Given the description of an element on the screen output the (x, y) to click on. 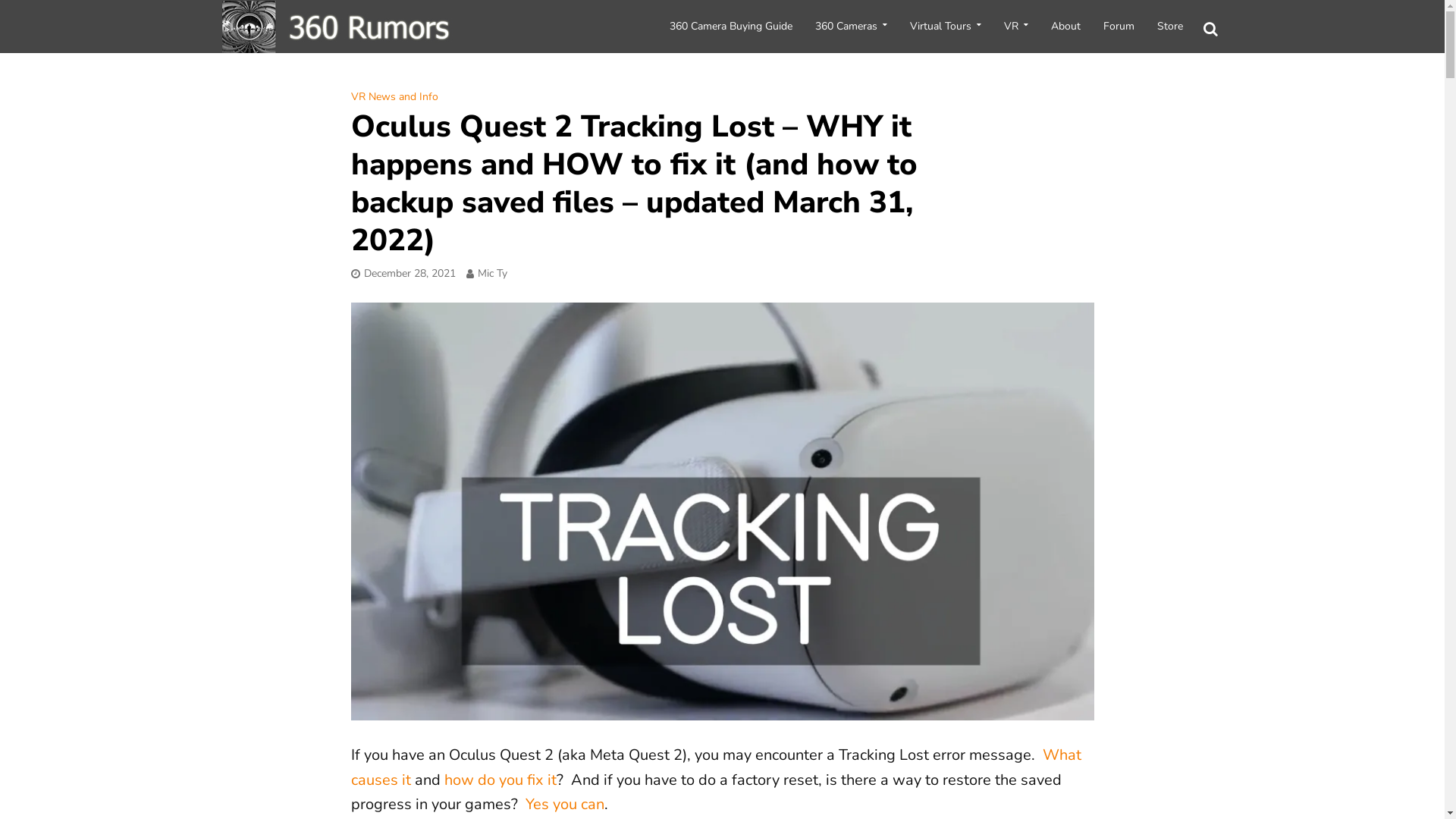
Yes you can Element type: text (563, 805)
Forum Element type: text (1118, 26)
Store Element type: text (1169, 26)
About Element type: text (1064, 26)
360 Cameras Element type: text (850, 26)
Virtual Tours Element type: text (944, 26)
Mic Ty Element type: text (492, 274)
What causes it Element type: text (715, 768)
how do you fix it Element type: text (500, 781)
VR Element type: text (1014, 26)
360 Camera Buying Guide Element type: text (730, 26)
VR News and Info Element type: text (393, 98)
